Given the description of an element on the screen output the (x, y) to click on. 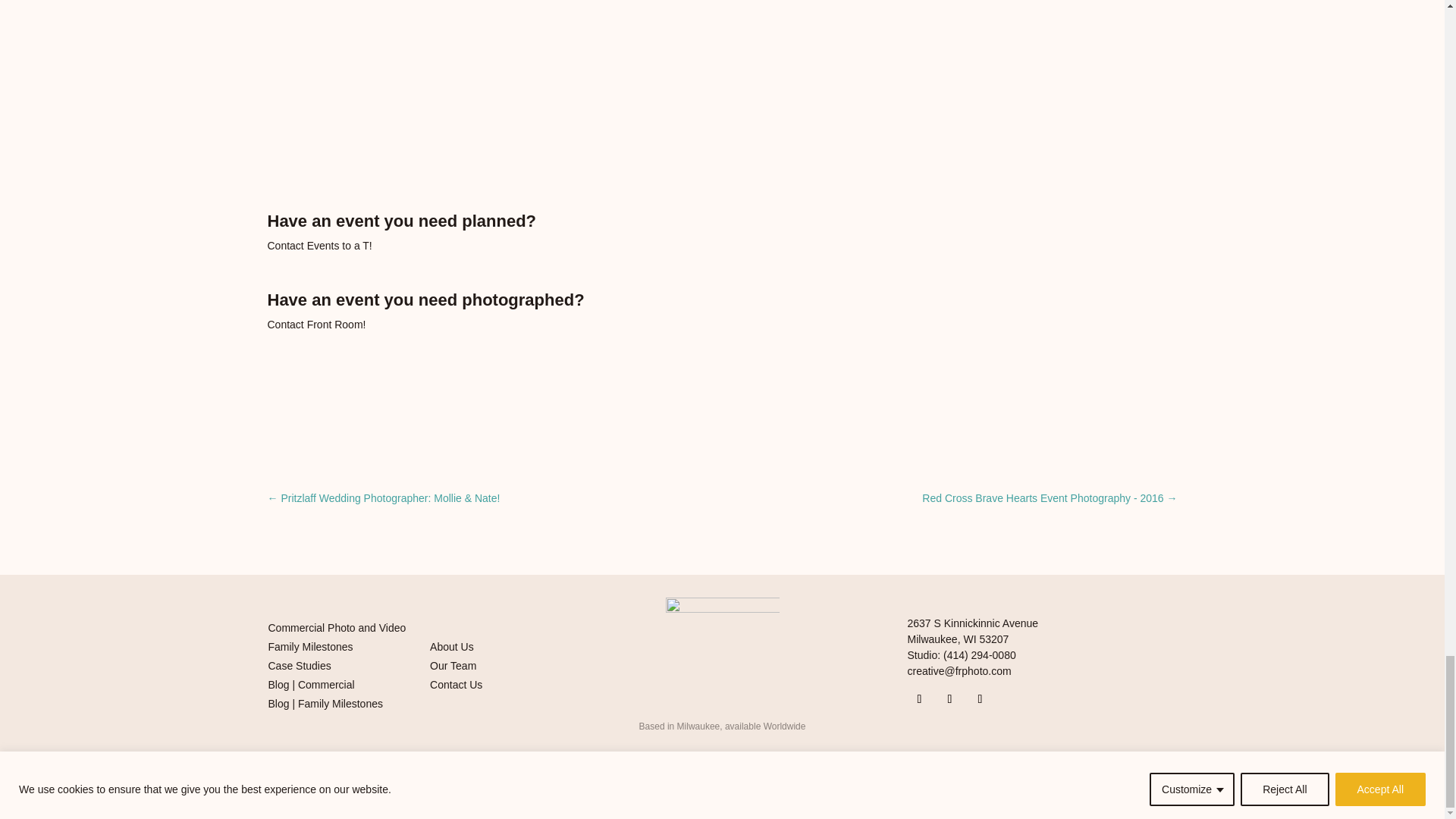
Primary Logo - Teal (721, 654)
Follow on LinkedIn (948, 699)
Follow on Youtube (979, 699)
Follow on Instagram (919, 699)
